Given the description of an element on the screen output the (x, y) to click on. 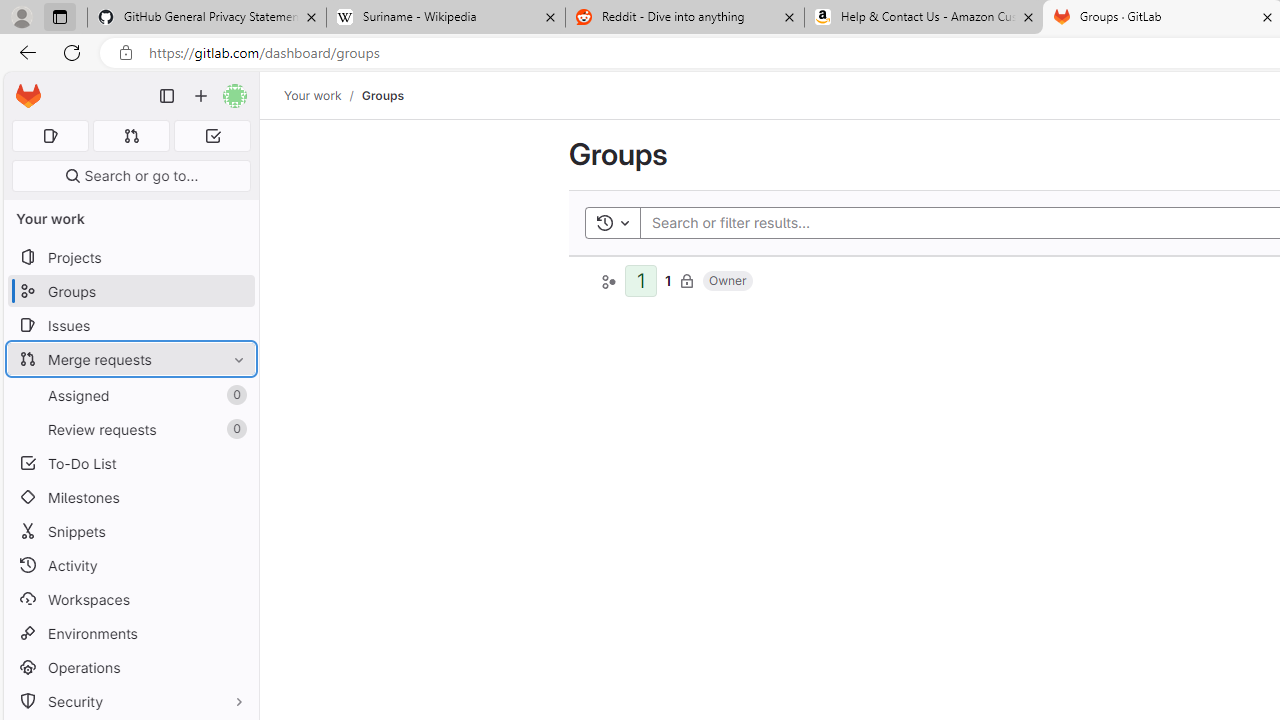
Snippets (130, 530)
Merge requestsAssigned0Review requests0 (130, 393)
Activity (130, 564)
Assigned 0 (130, 394)
Primary navigation sidebar (167, 96)
Security (130, 700)
Groups (382, 95)
Assigned0 (130, 394)
Issues (130, 325)
Snippets (130, 530)
Operations (130, 667)
To-Do List (130, 463)
